Given the description of an element on the screen output the (x, y) to click on. 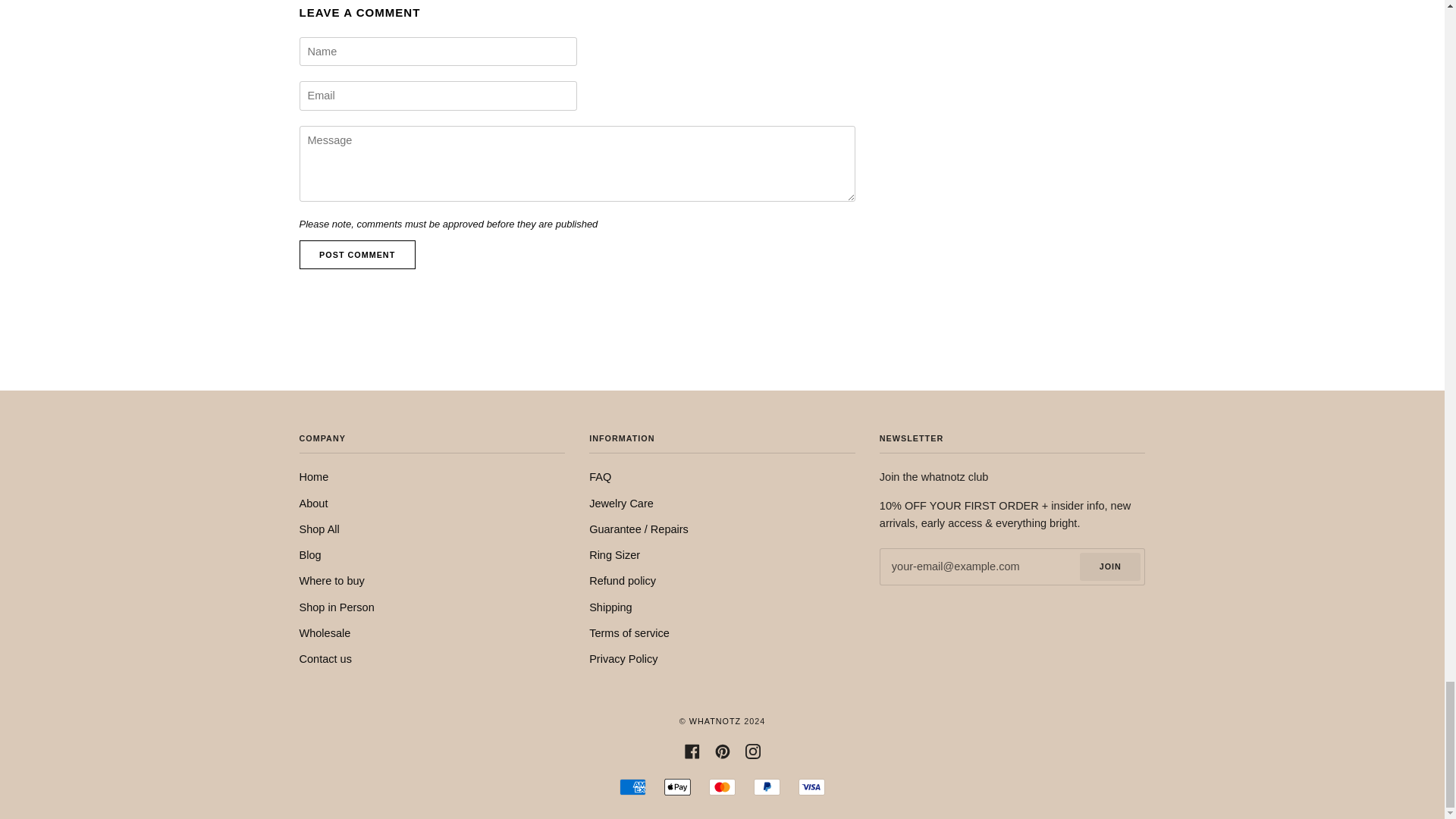
APPLE PAY (676, 786)
Instagram (752, 751)
PAYPAL (767, 786)
AMERICAN EXPRESS (633, 786)
MASTERCARD (722, 786)
Facebook (691, 751)
VISA (811, 786)
Pinterest (721, 751)
